Given the description of an element on the screen output the (x, y) to click on. 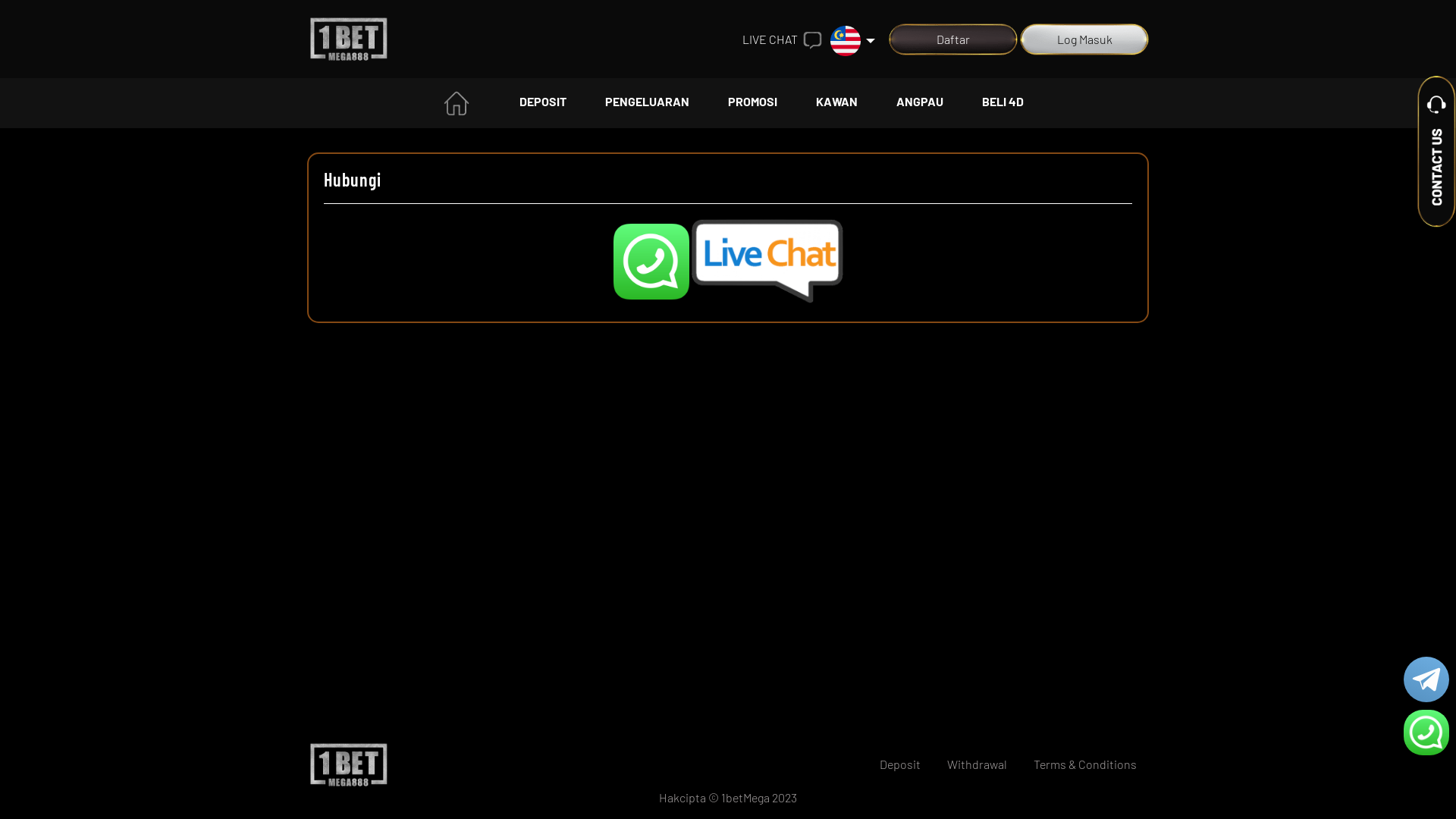
Terms & Conditions Element type: text (1084, 763)
KAWAN Element type: text (836, 103)
PROMOSI Element type: text (752, 103)
PENGELUARAN Element type: text (647, 103)
DEPOSIT Element type: text (542, 103)
BELI 4D Element type: text (1002, 103)
LIVE CHAT Element type: text (785, 39)
Log Masuk Element type: text (1083, 39)
Withdrawal Element type: text (977, 763)
Daftar Element type: text (952, 39)
ANGPAU Element type: text (919, 103)
Deposit Element type: text (899, 763)
